Given the description of an element on the screen output the (x, y) to click on. 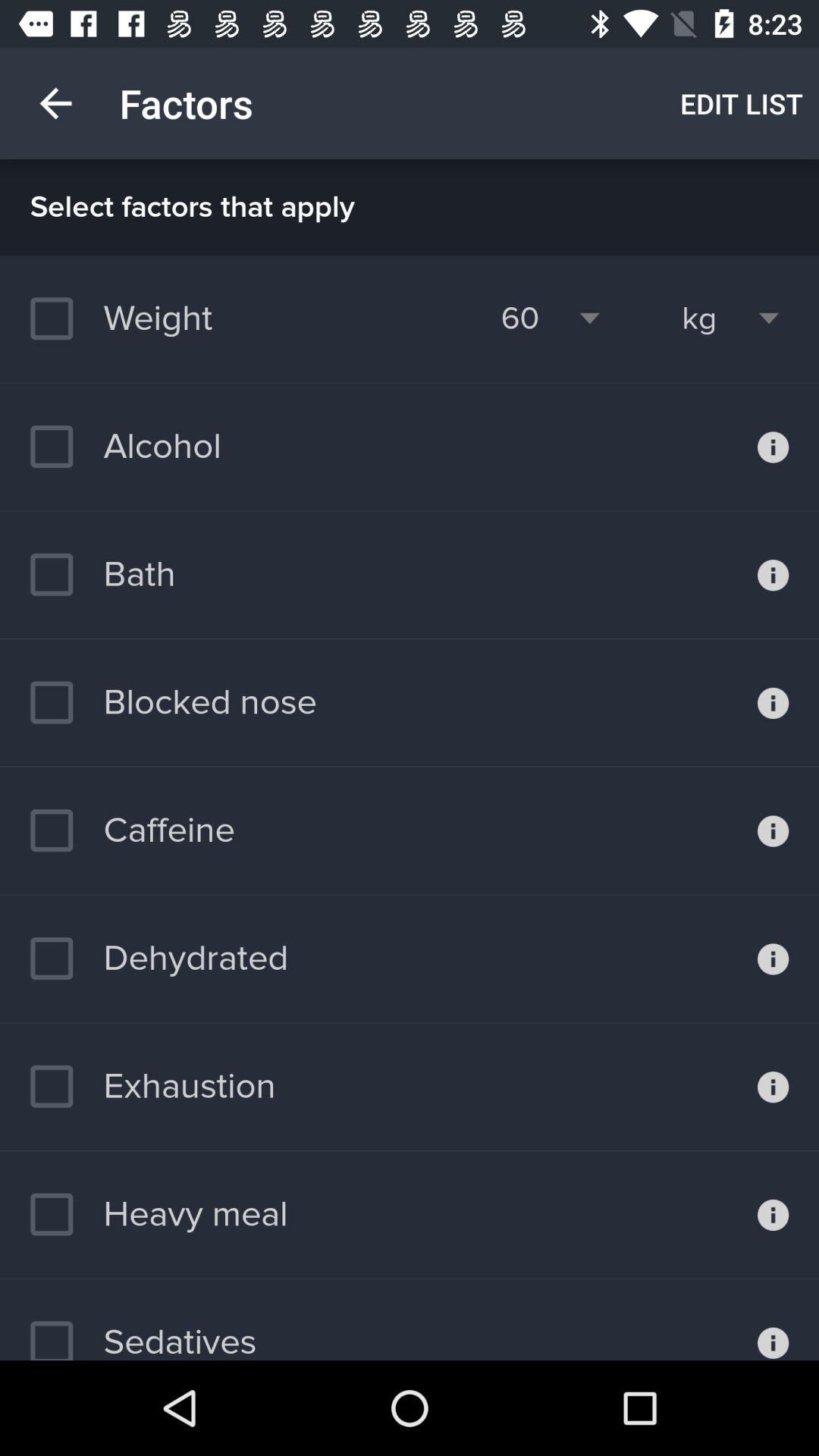
information on exhaustion (773, 1086)
